Given the description of an element on the screen output the (x, y) to click on. 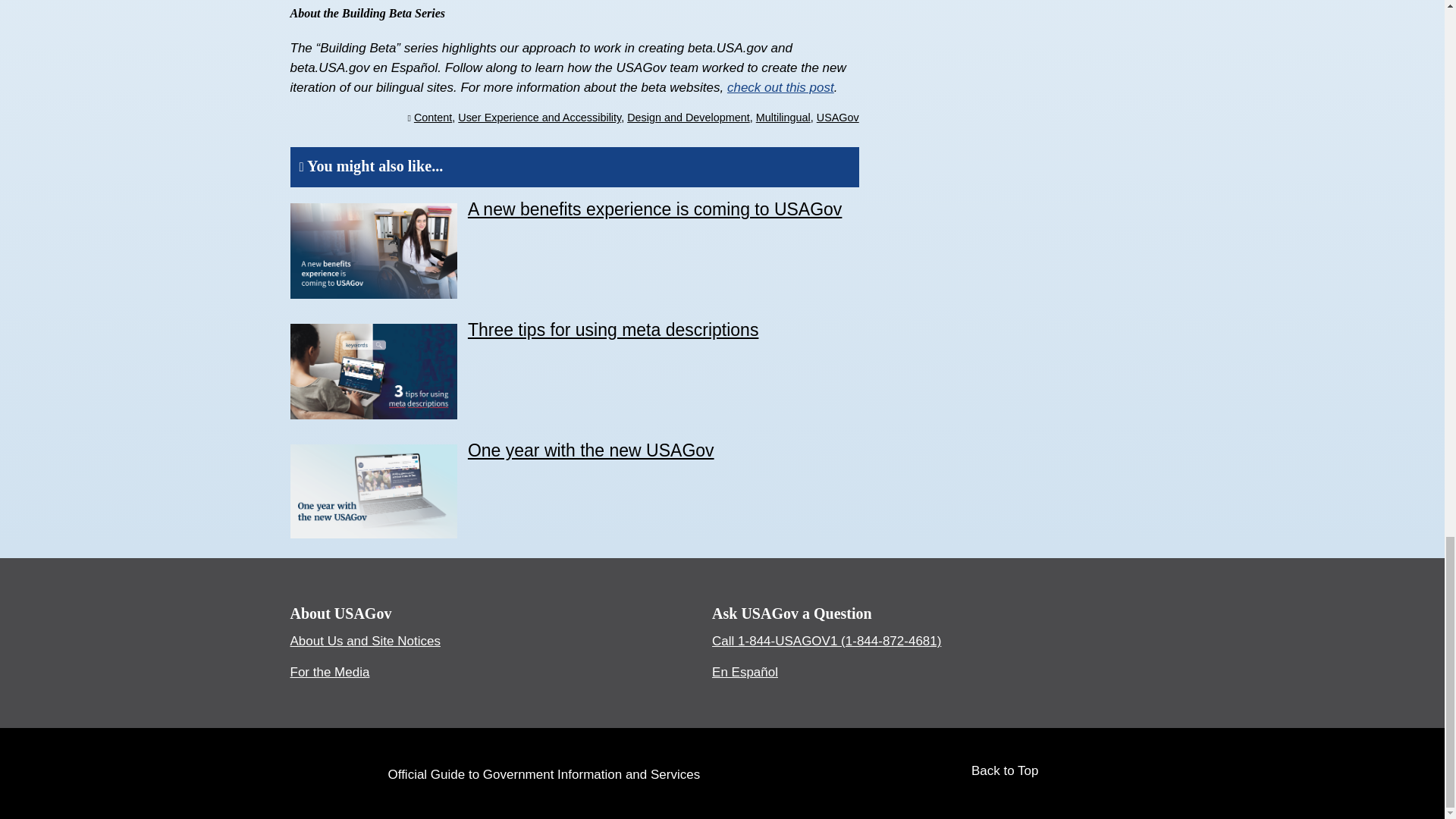
Design and Development (688, 117)
Multilingual (782, 117)
USAGov (837, 117)
One year with the new USAGov (590, 450)
Content (432, 117)
check out this post (780, 87)
Three tips for using meta descriptions (612, 329)
A new benefits experience is coming to USAGov (654, 209)
User Experience and Accessibility (539, 117)
